Given the description of an element on the screen output the (x, y) to click on. 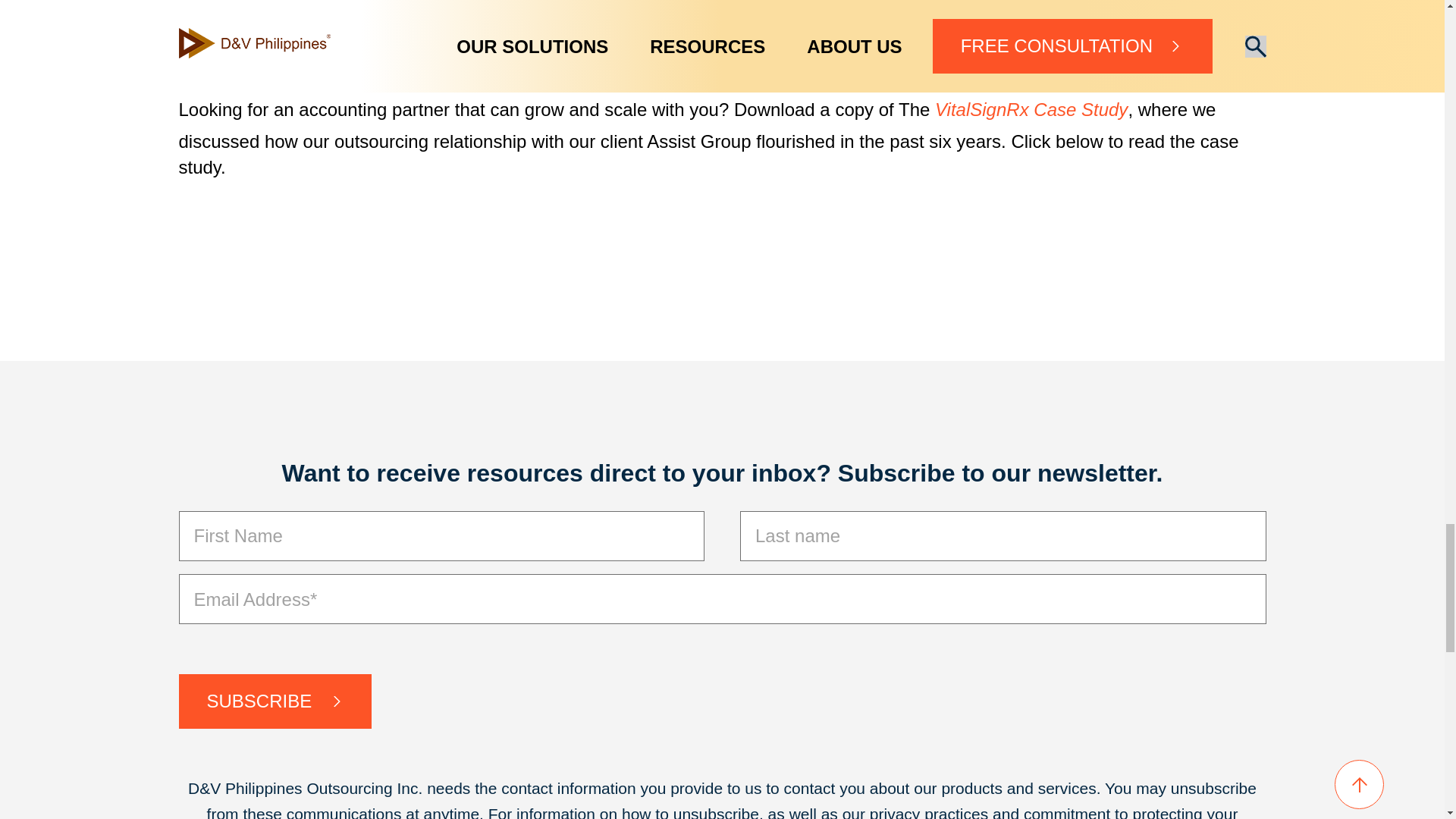
SUBSCRIBE (275, 701)
SUBSCRIBE (275, 701)
VitalSignRx Case Study (1030, 109)
